Given the description of an element on the screen output the (x, y) to click on. 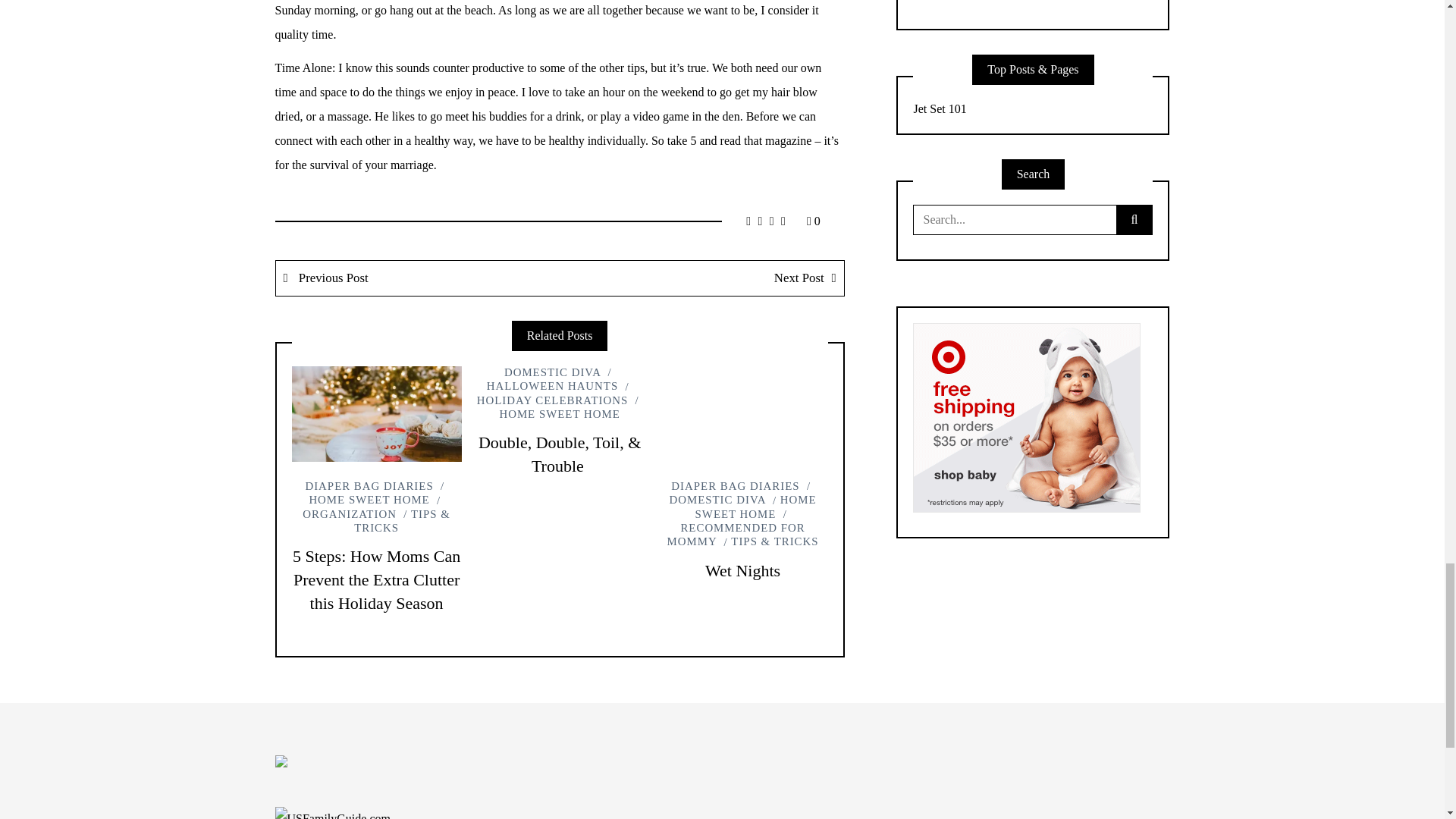
Previous Post (418, 277)
DIAPER BAG DIARIES (368, 485)
0 (813, 220)
Permalink to Wet Nights (742, 570)
HOME SWEET HOME (377, 492)
Next Post (701, 277)
Permalink to: "Wet Nights" (742, 413)
